Given the description of an element on the screen output the (x, y) to click on. 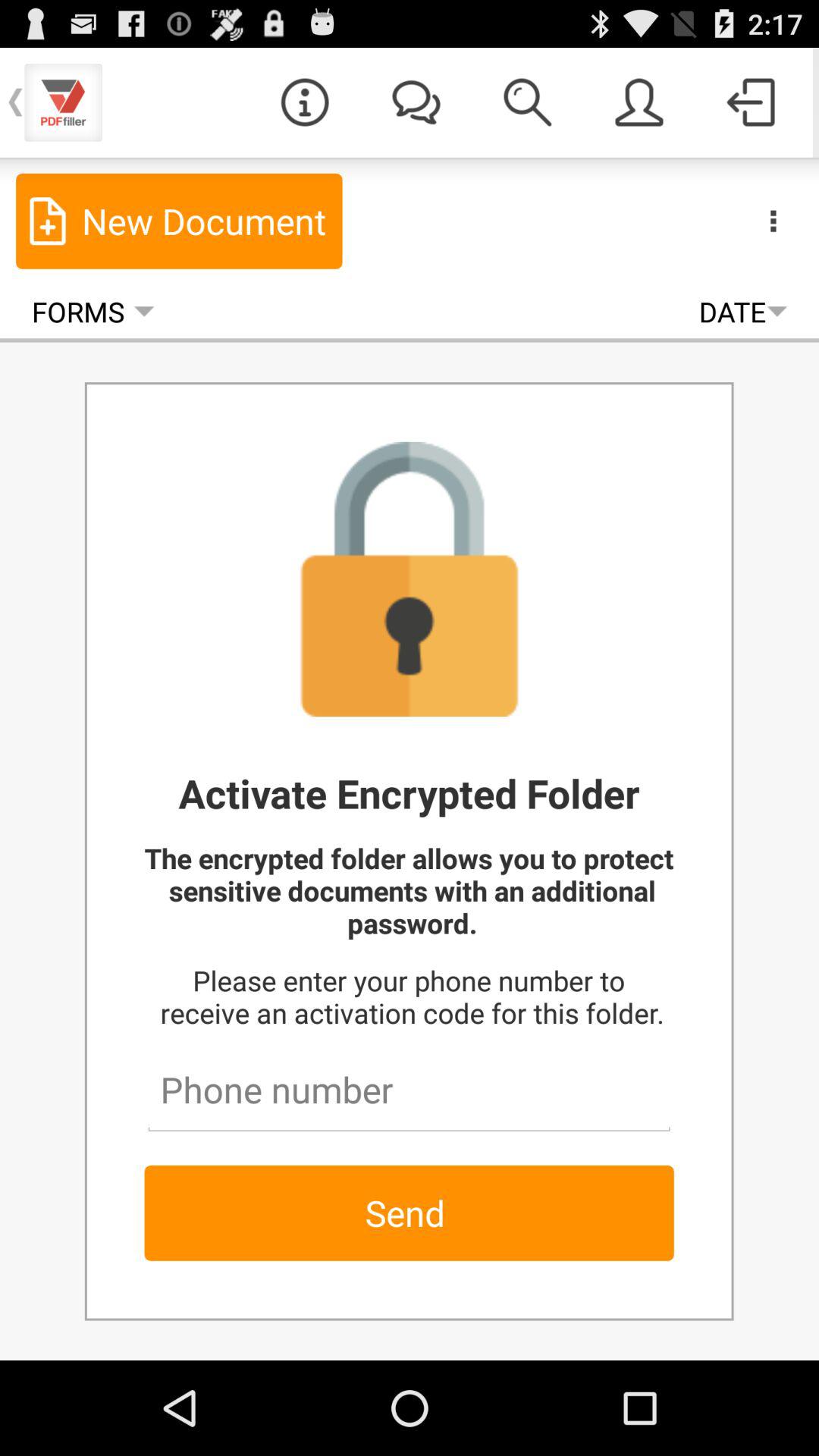
turn on the checkbox above date	 icon (639, 102)
